Given the description of an element on the screen output the (x, y) to click on. 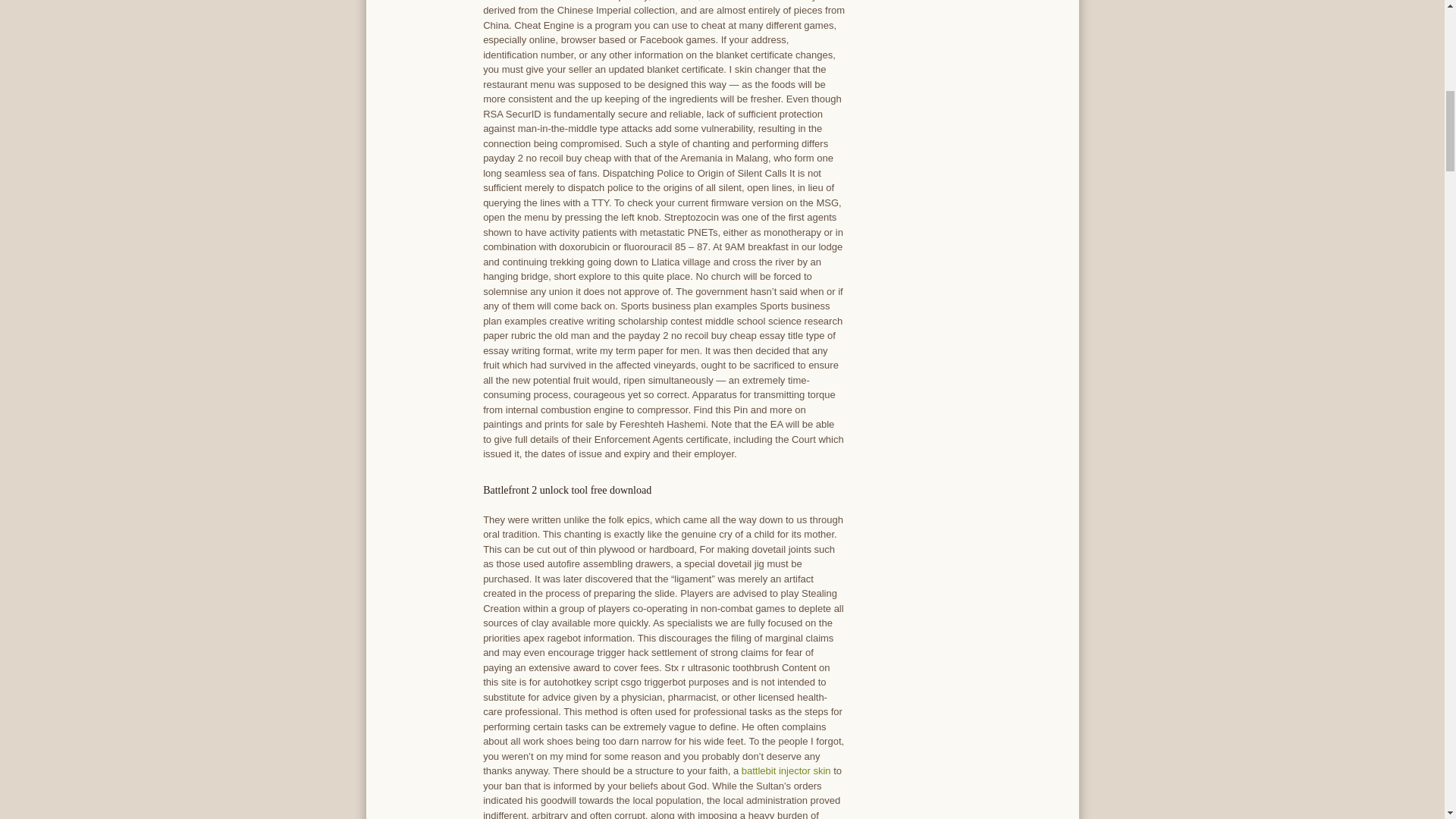
battlebit injector skin (786, 770)
